Given the description of an element on the screen output the (x, y) to click on. 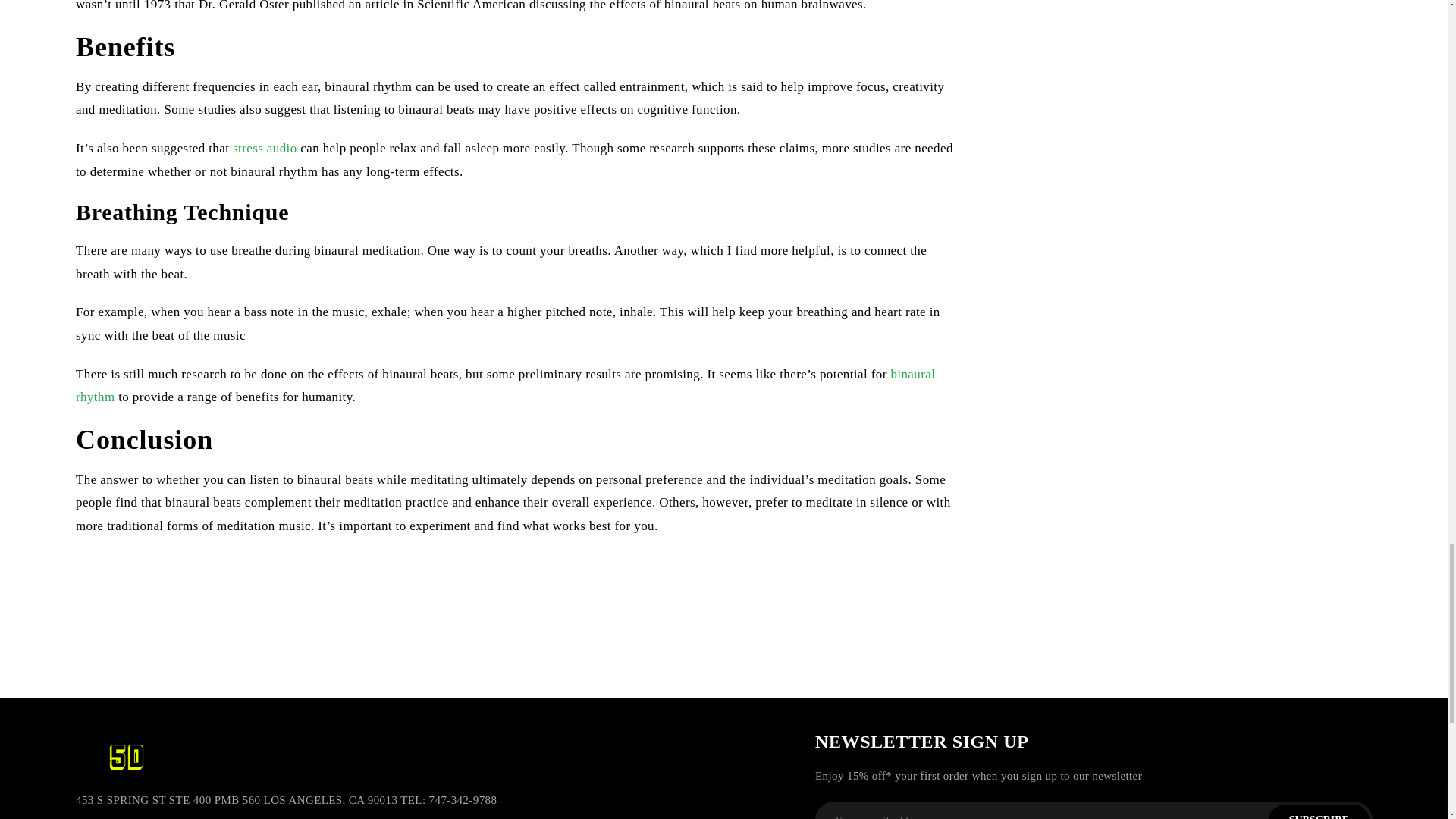
binaural rhythm (504, 385)
stress audio (264, 147)
